Given the description of an element on the screen output the (x, y) to click on. 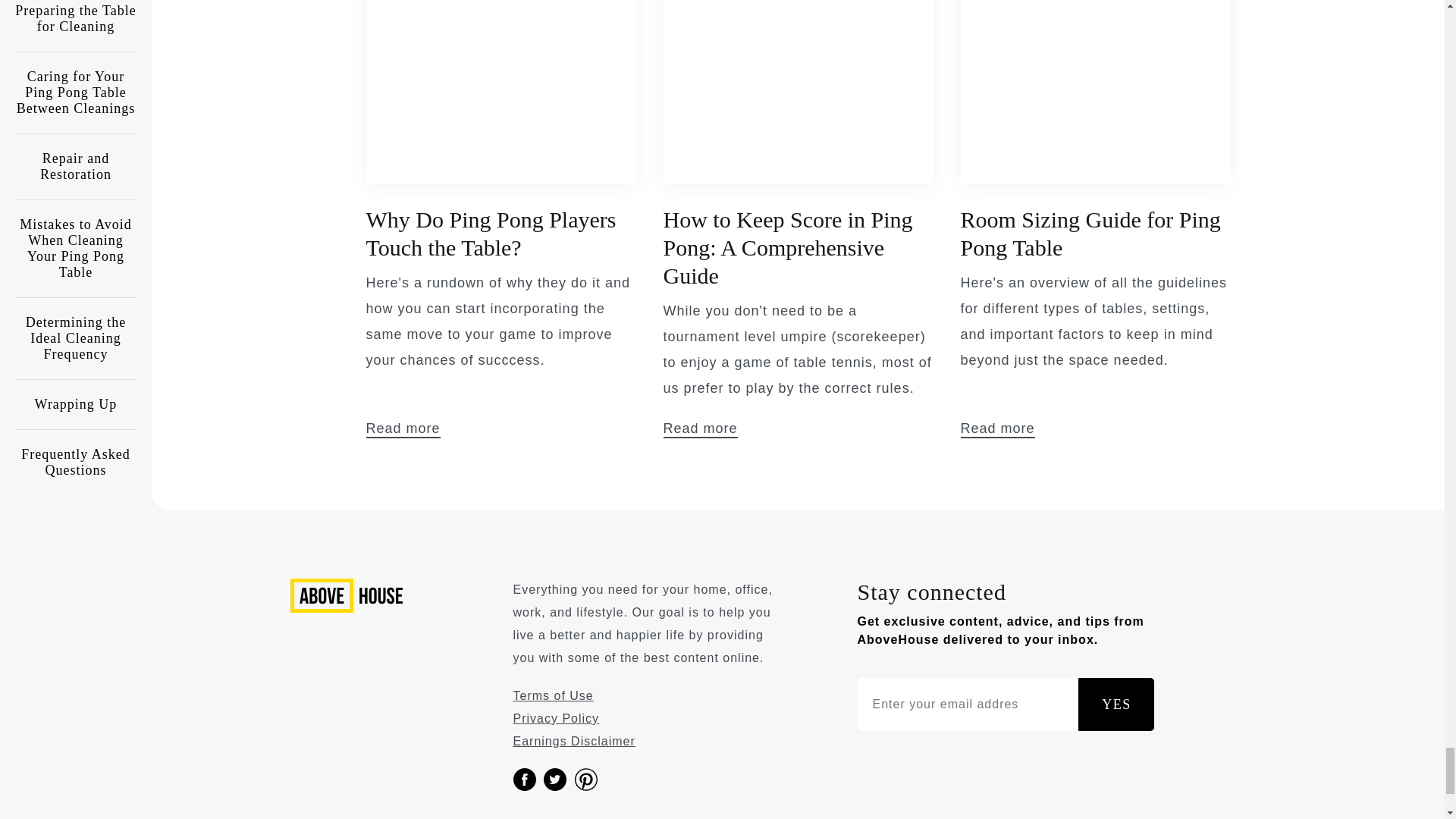
Read more (402, 429)
Read more (699, 429)
Read more (996, 429)
Yes (1116, 704)
Privacy Policy (555, 717)
Earnings Disclaimer (573, 740)
Terms of Use (552, 695)
